Given the description of an element on the screen output the (x, y) to click on. 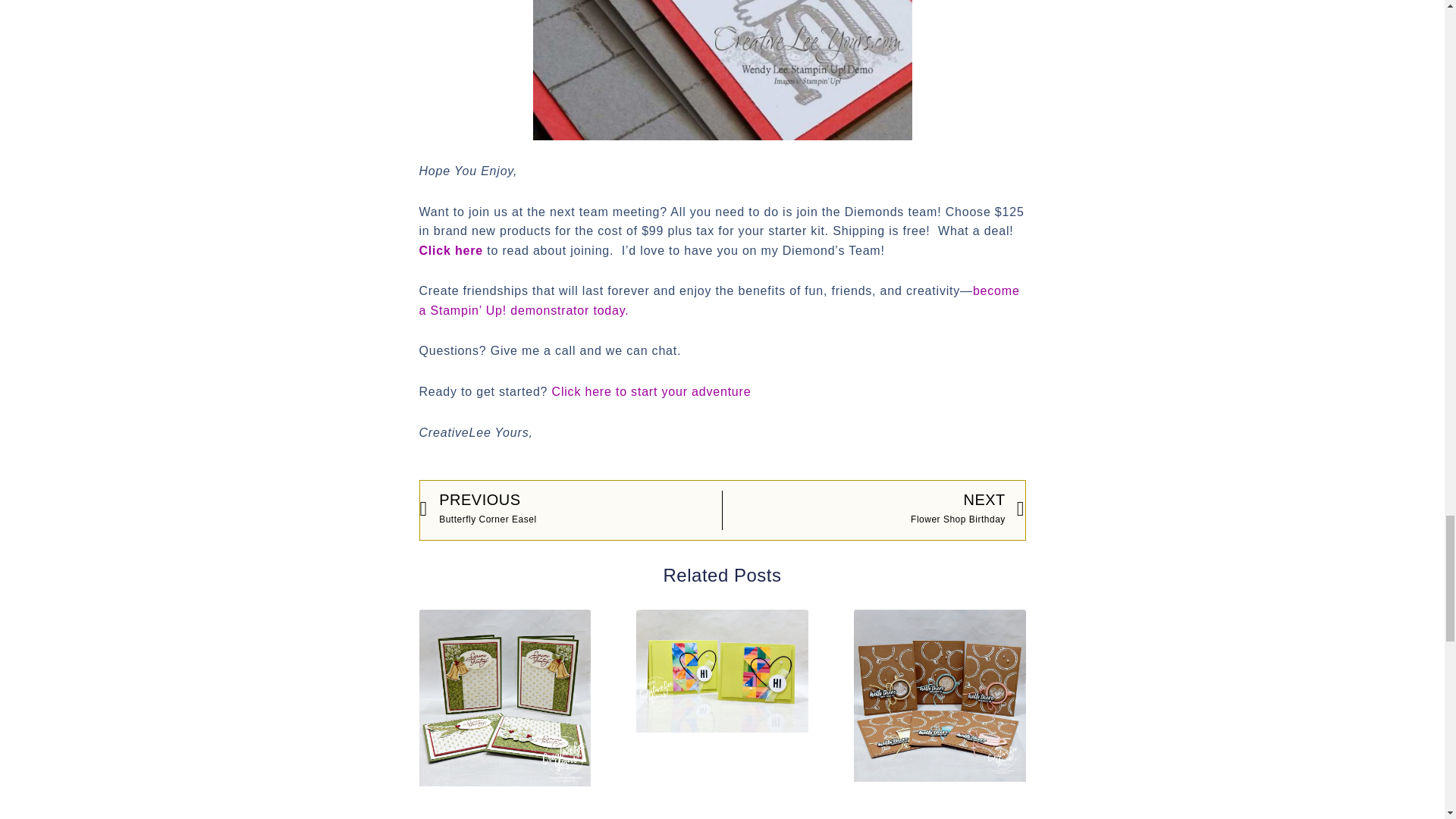
Click here to start your adventure (651, 391)
Click here (450, 250)
